Given the description of an element on the screen output the (x, y) to click on. 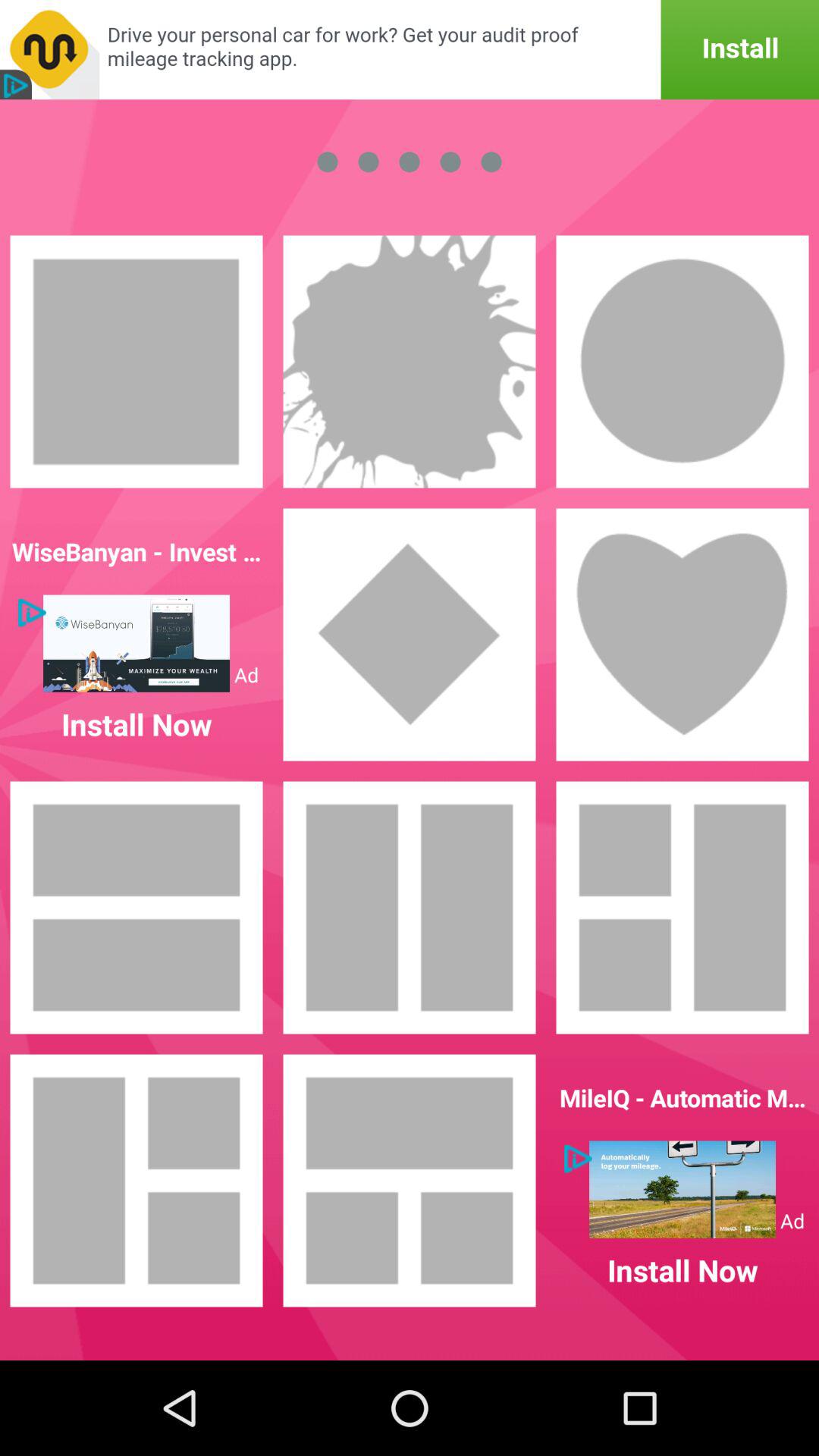
select this layout (409, 1180)
